Given the description of an element on the screen output the (x, y) to click on. 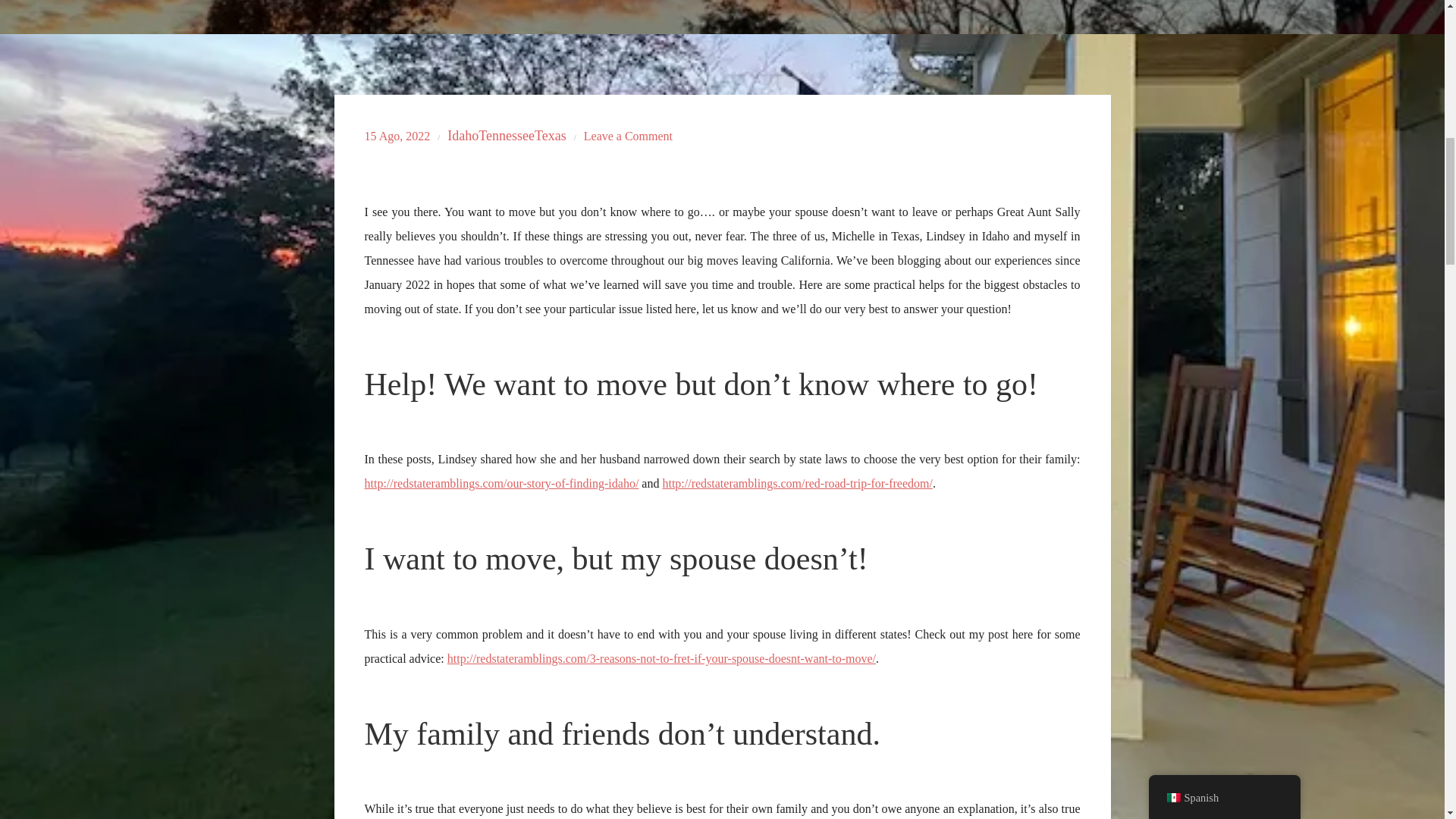
Idaho (462, 135)
Tennessee (506, 135)
15 Ago, 2022 (396, 135)
Texas (550, 135)
